Given the description of an element on the screen output the (x, y) to click on. 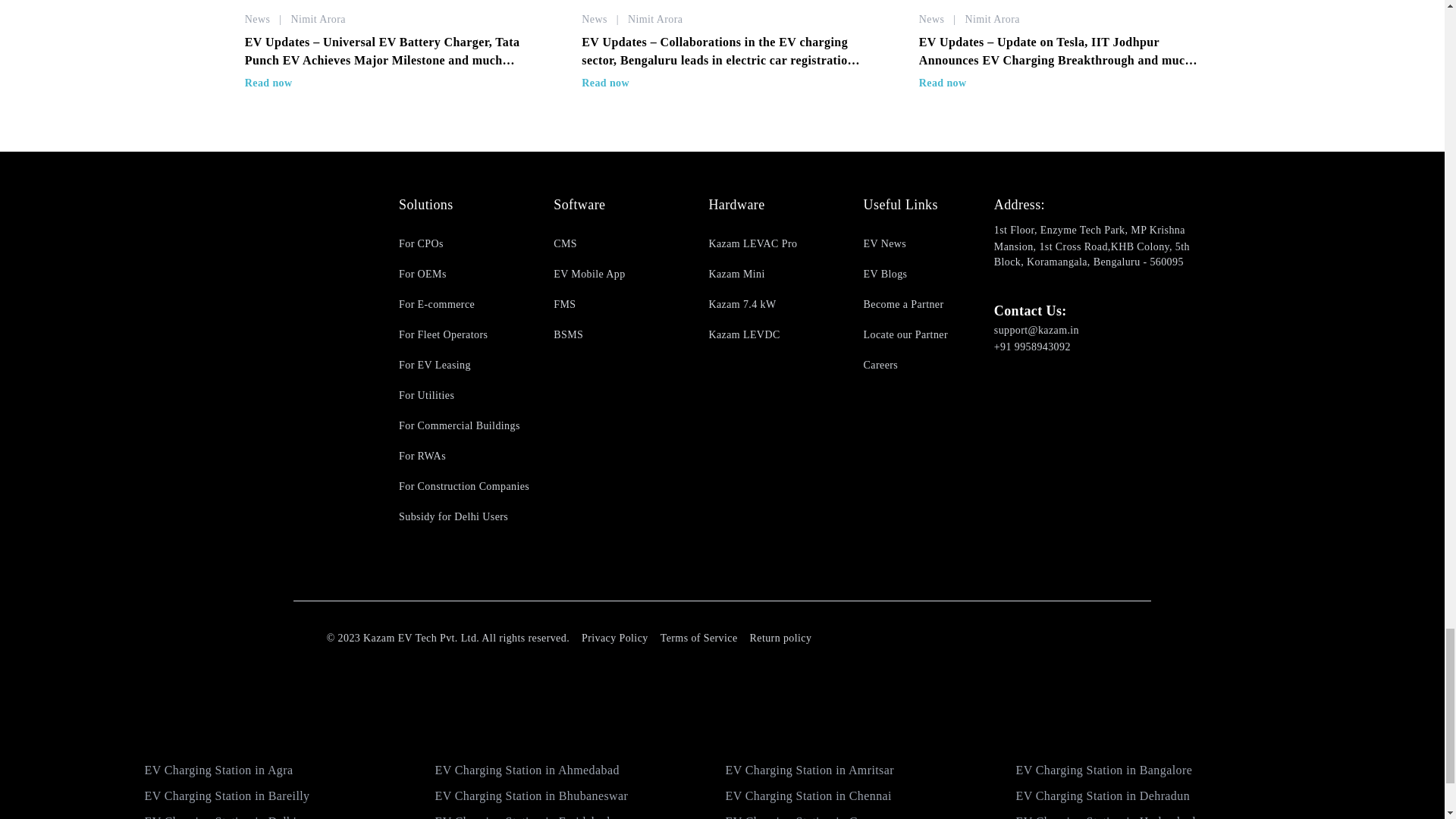
Subsidy for Delhi Users (463, 516)
FMS (618, 304)
For EV Leasing (463, 365)
EV Blogs (928, 273)
EV Mobile App (618, 273)
Become a Partner (928, 304)
Read now (942, 82)
Careers (928, 365)
For Fleet Operators (463, 335)
EV News (928, 243)
Locate our Partner (928, 335)
For OEMs (463, 273)
BSMS (618, 335)
Kazam 7.4 kW (772, 304)
For CPOs (463, 243)
